Given the description of an element on the screen output the (x, y) to click on. 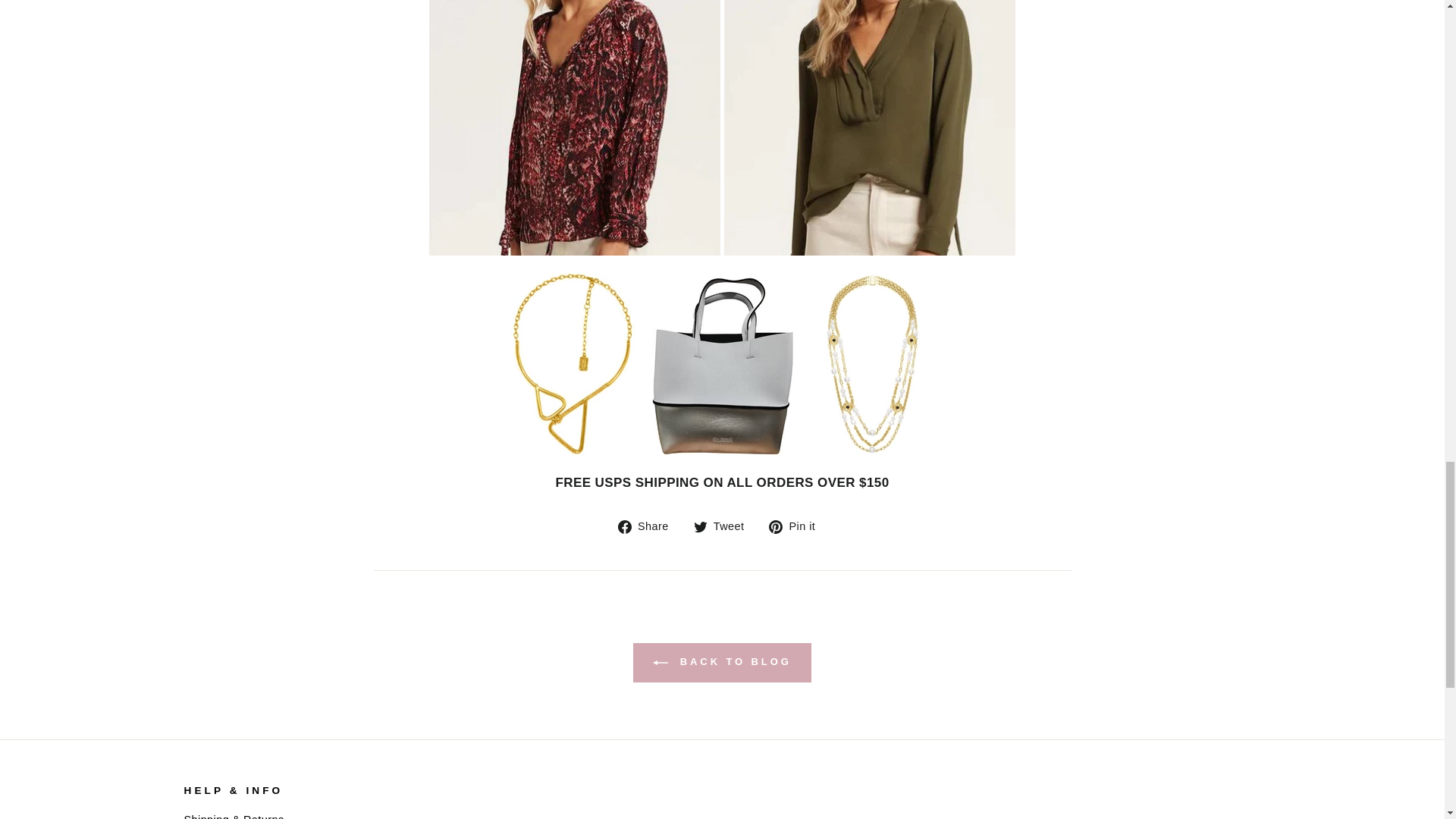
Share on Facebook (648, 525)
twitter (700, 526)
Pin on Pinterest (797, 525)
Tweet on Twitter (724, 525)
ICON-LEFT-ARROW (660, 662)
